Given the description of an element on the screen output the (x, y) to click on. 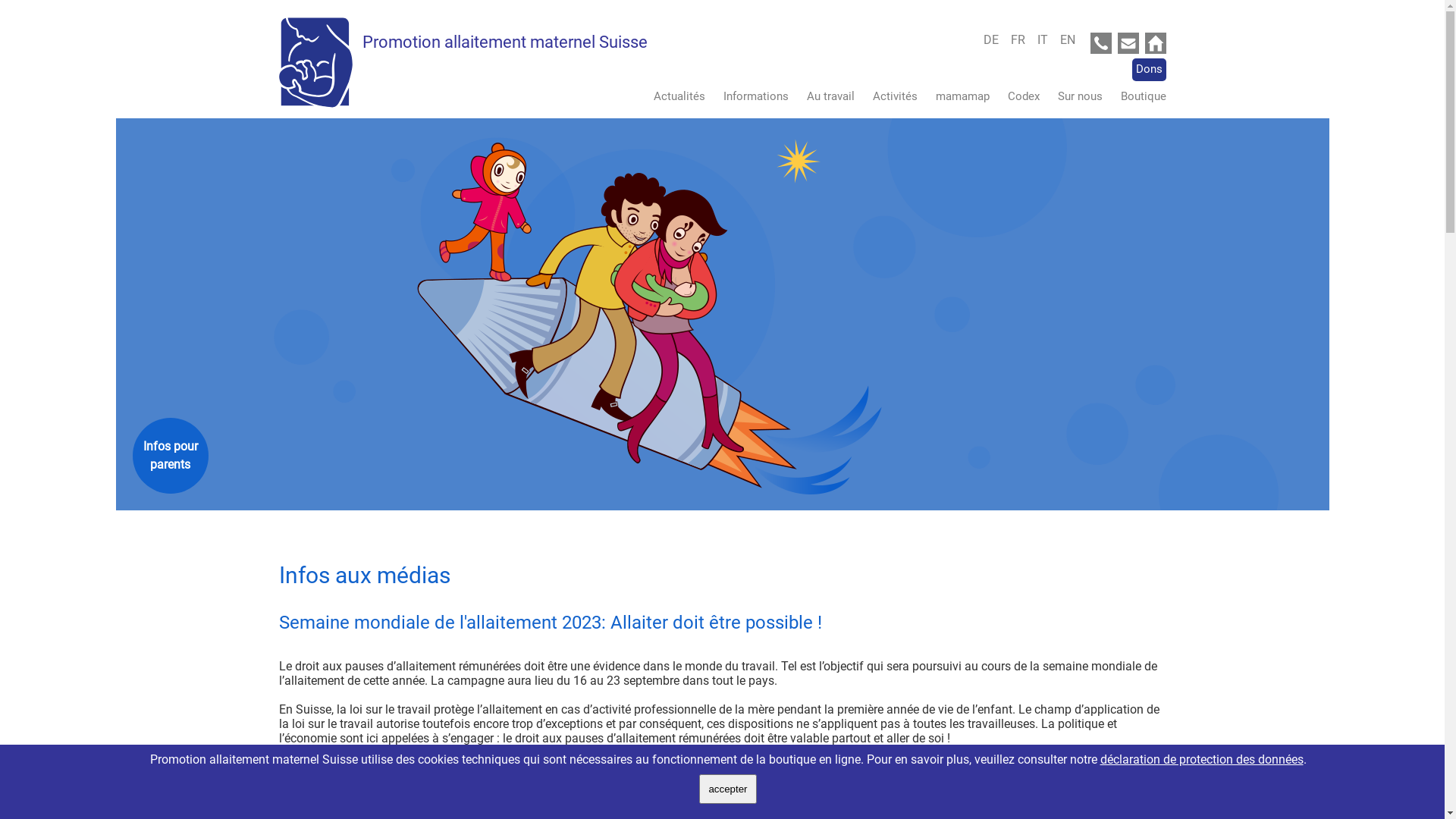
Informations Element type: text (748, 95)
DE Element type: text (994, 39)
Boutique Element type: text (1135, 95)
Promotion allaitement maternel Suisse Element type: text (504, 41)
accepter Element type: text (727, 788)
Codex Element type: text (1014, 95)
Infos pour
parents Element type: text (169, 455)
mamamap Element type: text (954, 95)
IT Element type: text (1047, 39)
EN Element type: text (1067, 39)
Sur nous Element type: text (1071, 95)
Au travail Element type: text (822, 95)
Dons Element type: text (1148, 69)
